Given the description of an element on the screen output the (x, y) to click on. 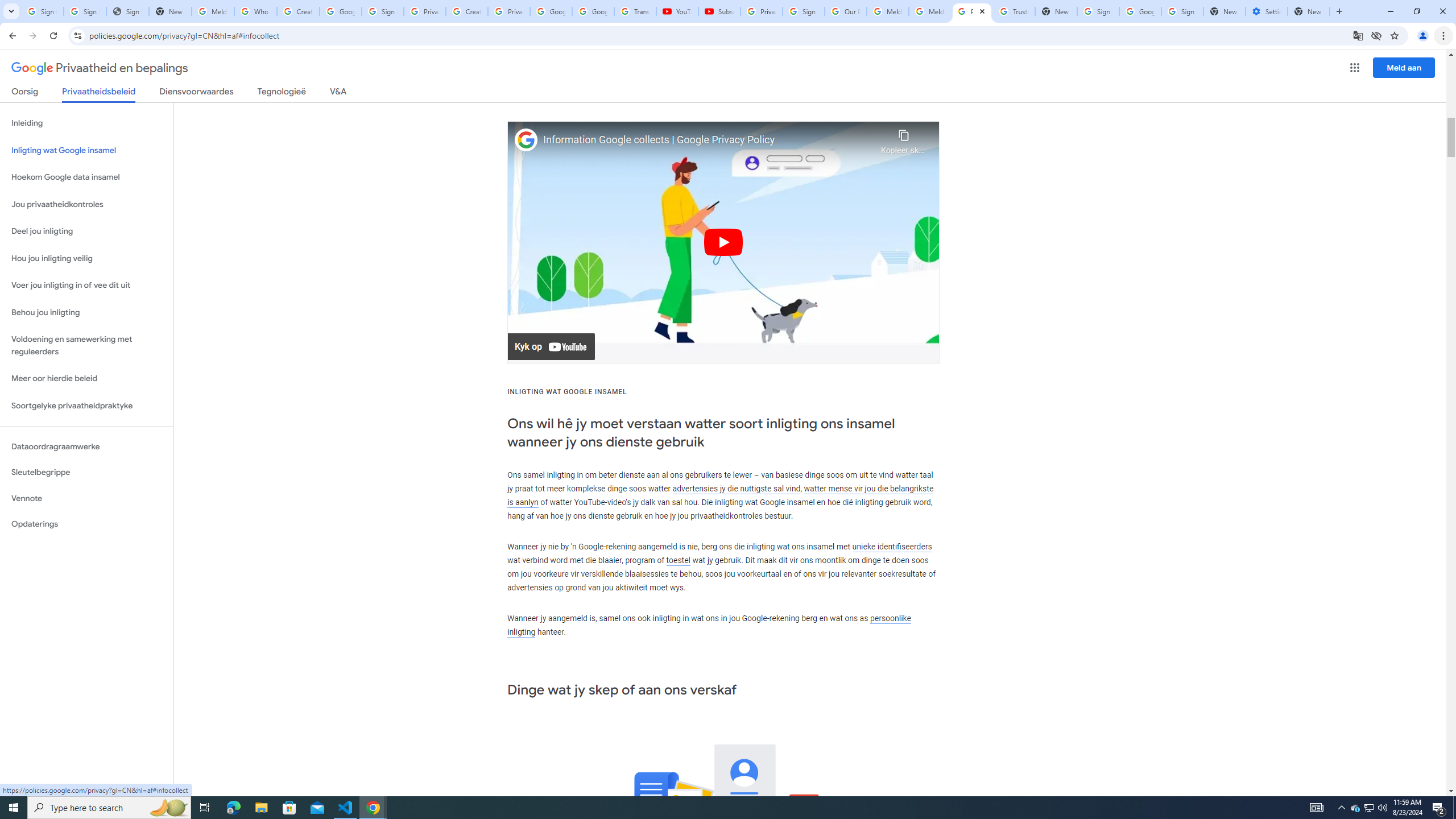
Privaatheid en bepalings (99, 68)
Sign In - USA TODAY (127, 11)
Kopieer skakel (903, 139)
Google-programme (1355, 67)
Speel (723, 242)
watter mense vir jou die belangrikste is aanlyn (719, 495)
